Given the description of an element on the screen output the (x, y) to click on. 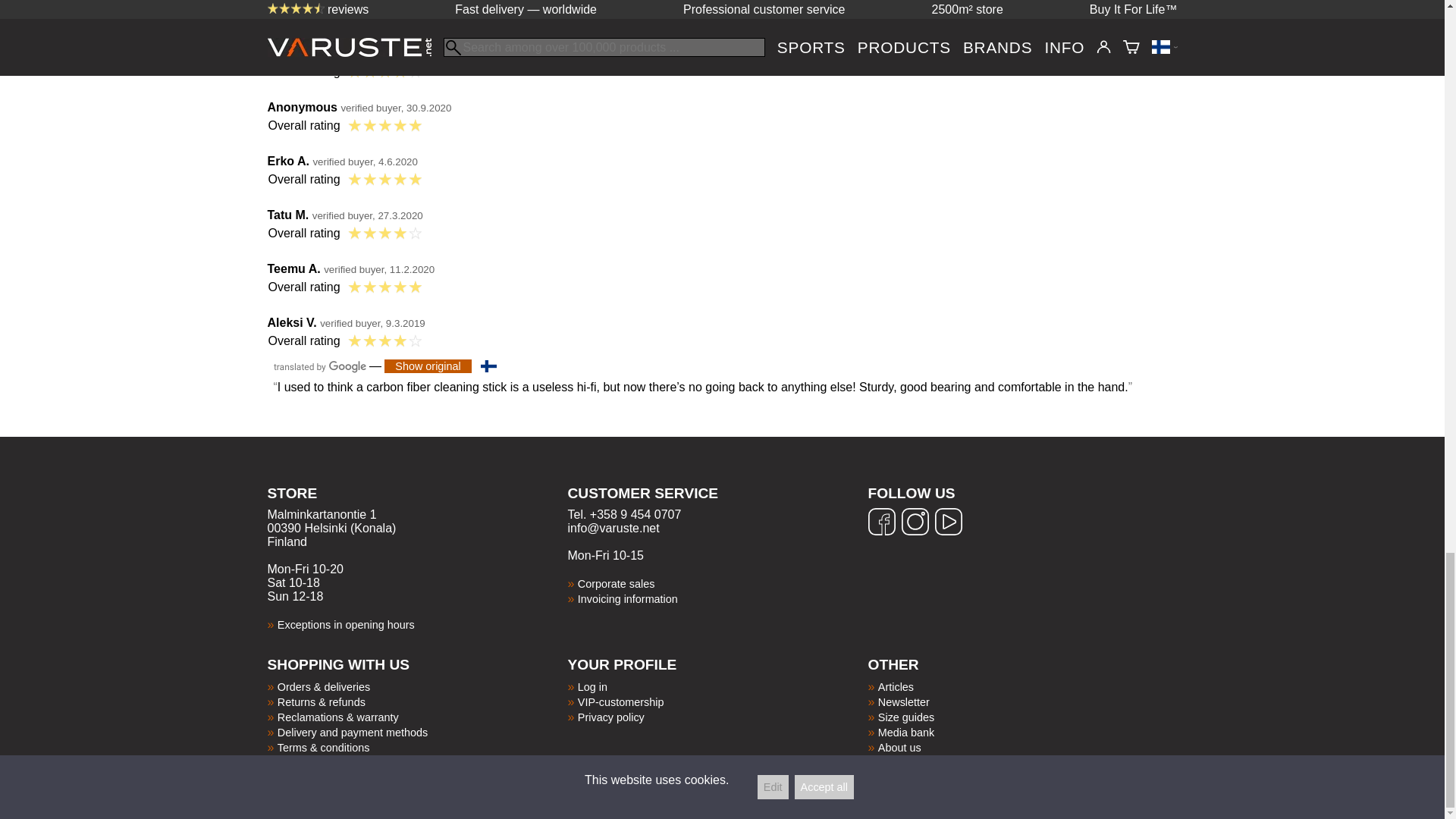
Finnish (488, 366)
Corporate sales (616, 583)
CUSTOMER SERVICE (717, 502)
Invoicing information (628, 598)
Exceptions in opening hours (346, 624)
